Given the description of an element on the screen output the (x, y) to click on. 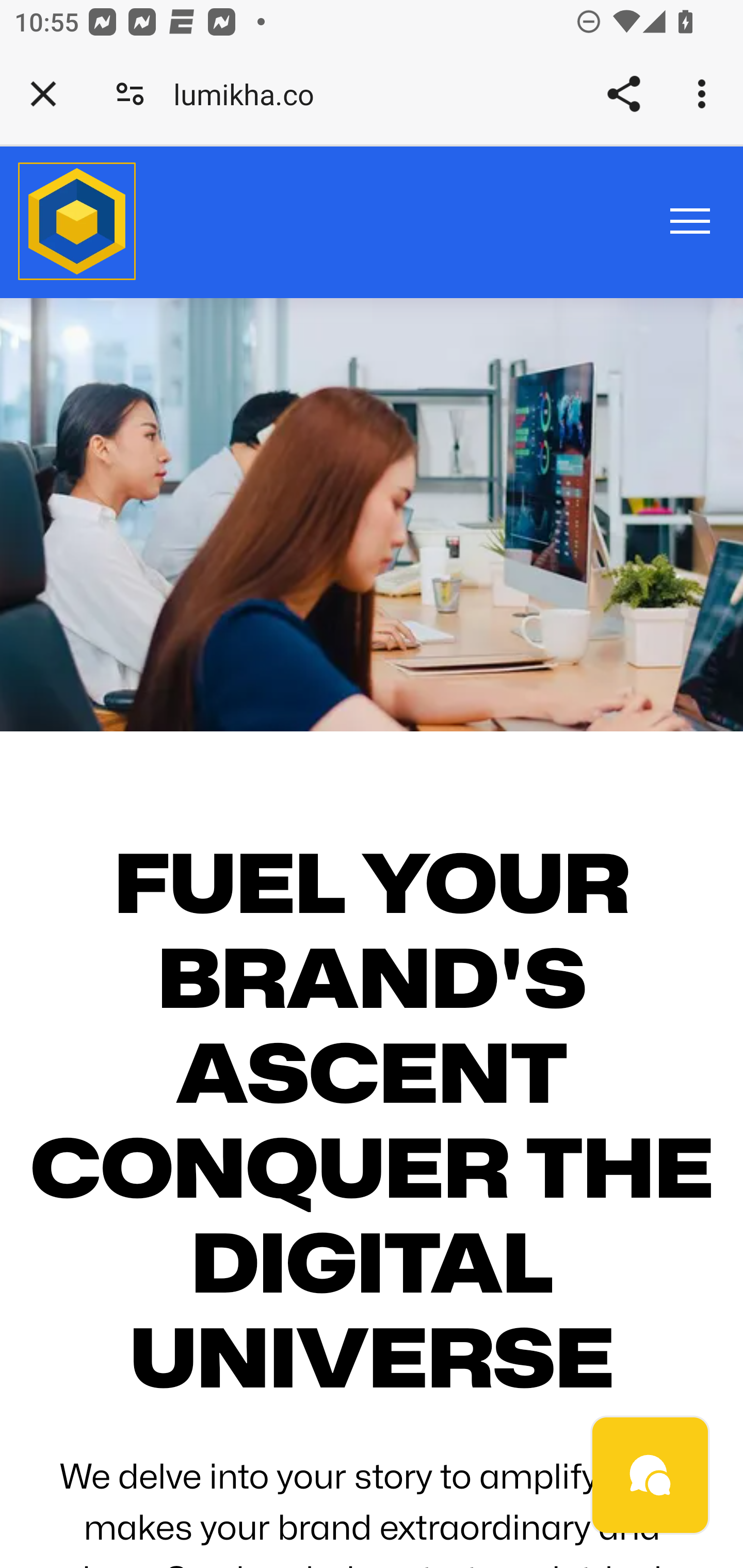
Close tab (43, 93)
Share (623, 93)
Customize and control Google Chrome (705, 93)
Connection is secure (129, 93)
lumikha.co (250, 93)
LUMI-ID-Avatar_Transparent-640w (77, 222)
menu opener (690, 220)
bubble-icon (650, 1476)
